Given the description of an element on the screen output the (x, y) to click on. 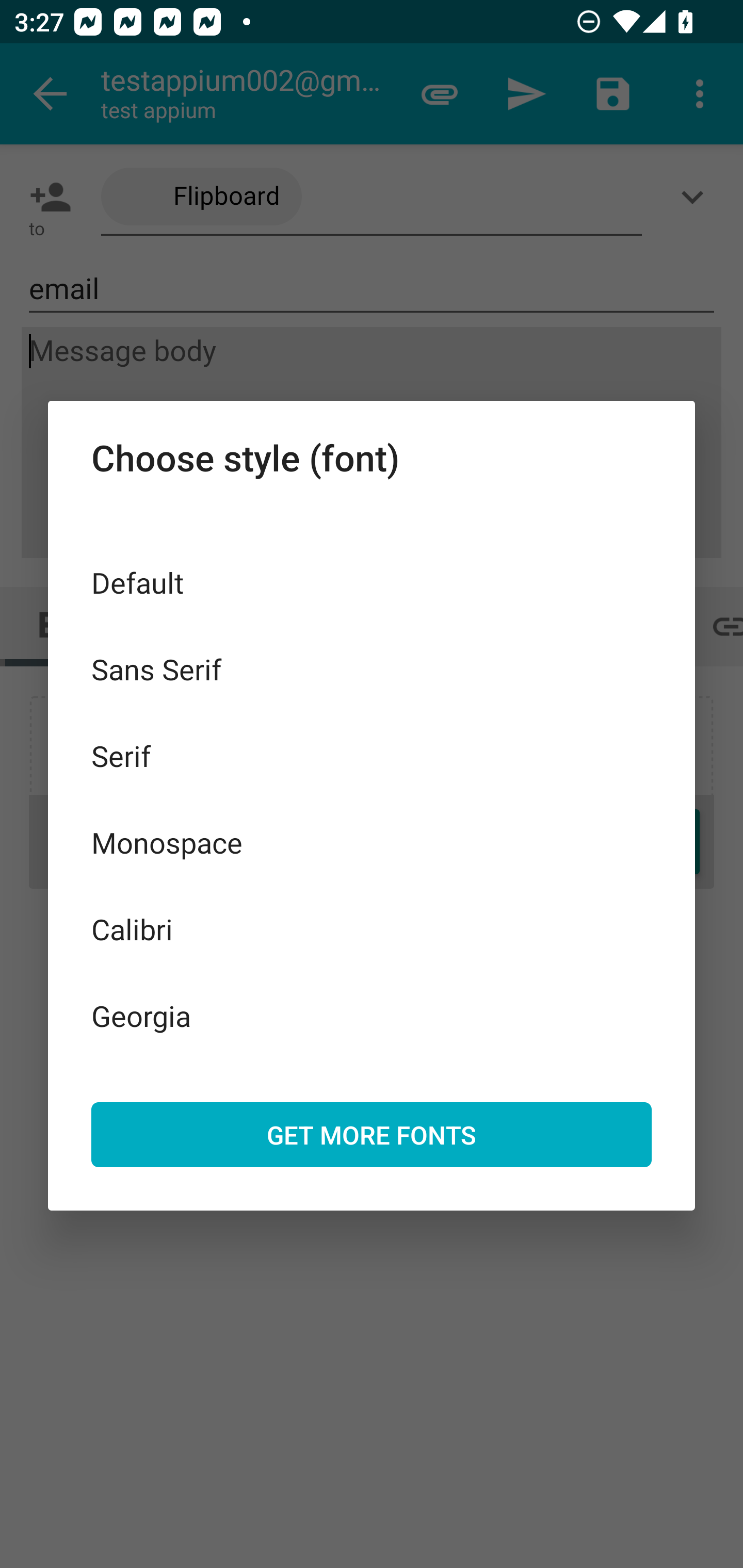
Default (371, 582)
Sans Serif (371, 668)
Serif (371, 755)
Monospace (371, 842)
Calibri (371, 928)
Georgia (371, 1015)
GET MORE FONTS (371, 1134)
